Given the description of an element on the screen output the (x, y) to click on. 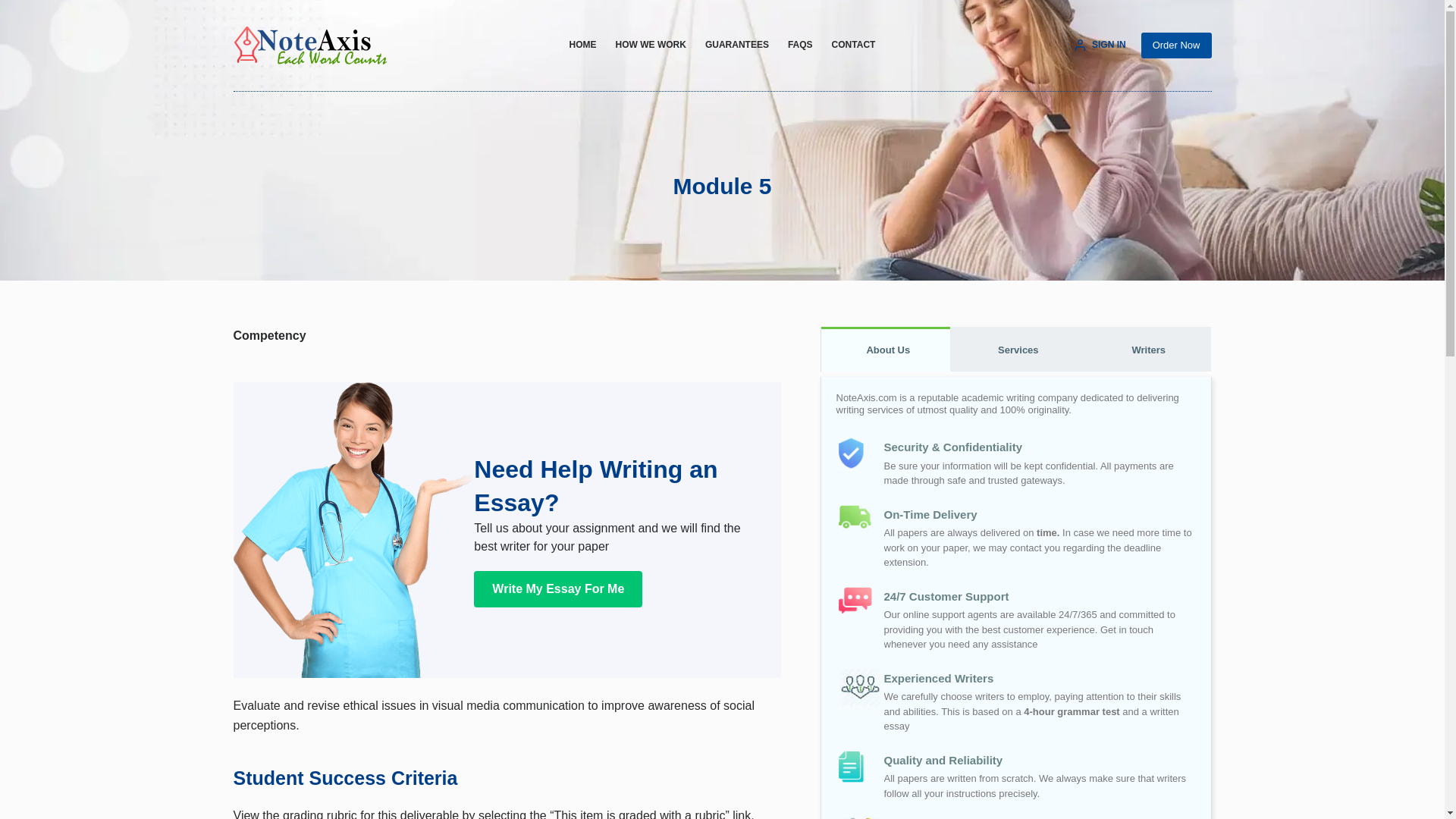
Order Now (1176, 45)
HOW WE WORK (650, 45)
Skip to content (15, 7)
GUARANTEES (736, 45)
Module 5 (722, 185)
Write My Essay For Me (558, 588)
SIGN IN (1099, 45)
